Given the description of an element on the screen output the (x, y) to click on. 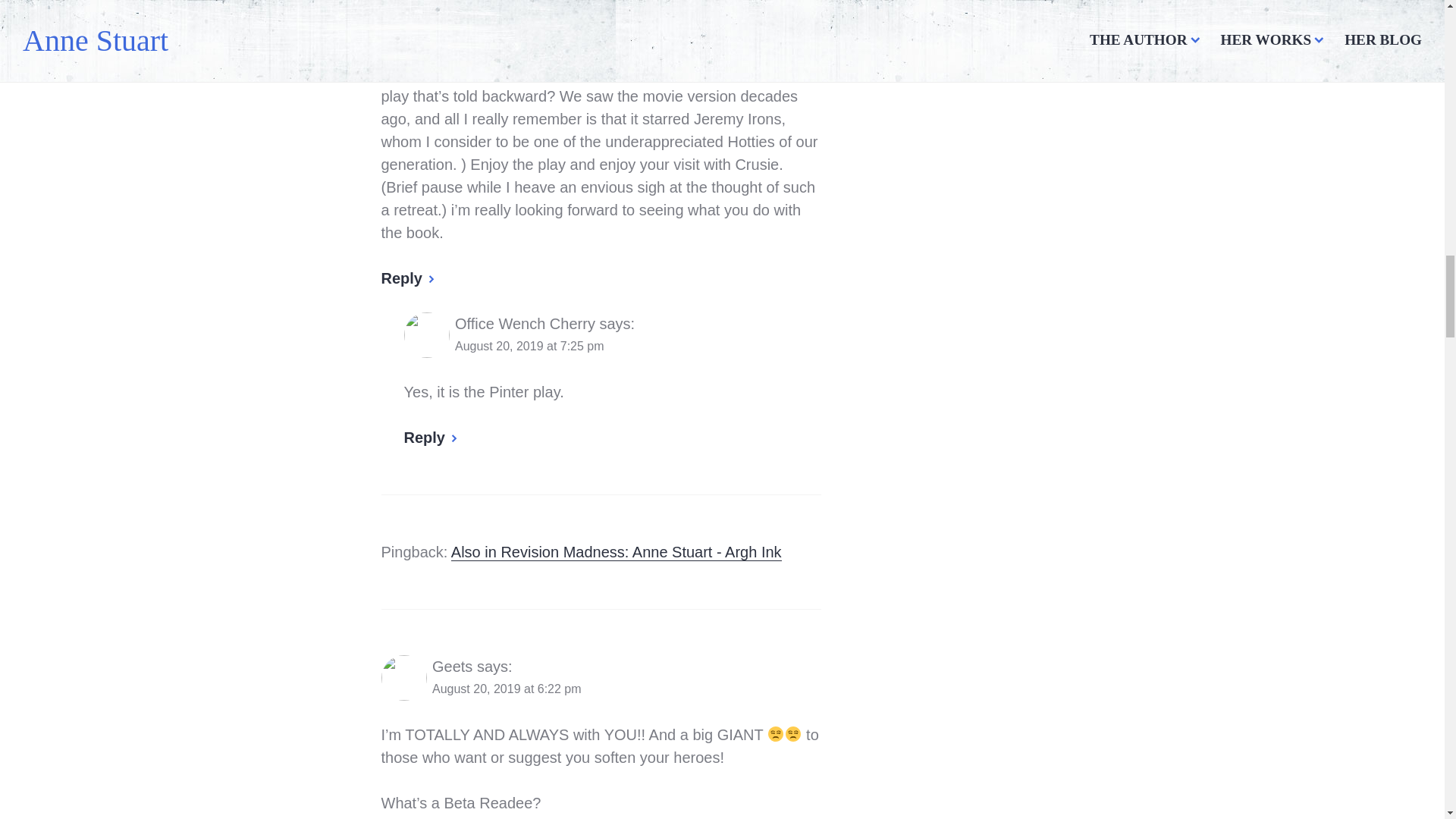
August 20, 2019 at 6:22 pm (506, 688)
August 20, 2019 at 7:25 pm (529, 345)
August 20, 2019 at 3:46 pm (506, 5)
Reply (431, 437)
Also in Revision Madness: Anne Stuart - Argh Ink (616, 551)
Reply (408, 278)
